Given the description of an element on the screen output the (x, y) to click on. 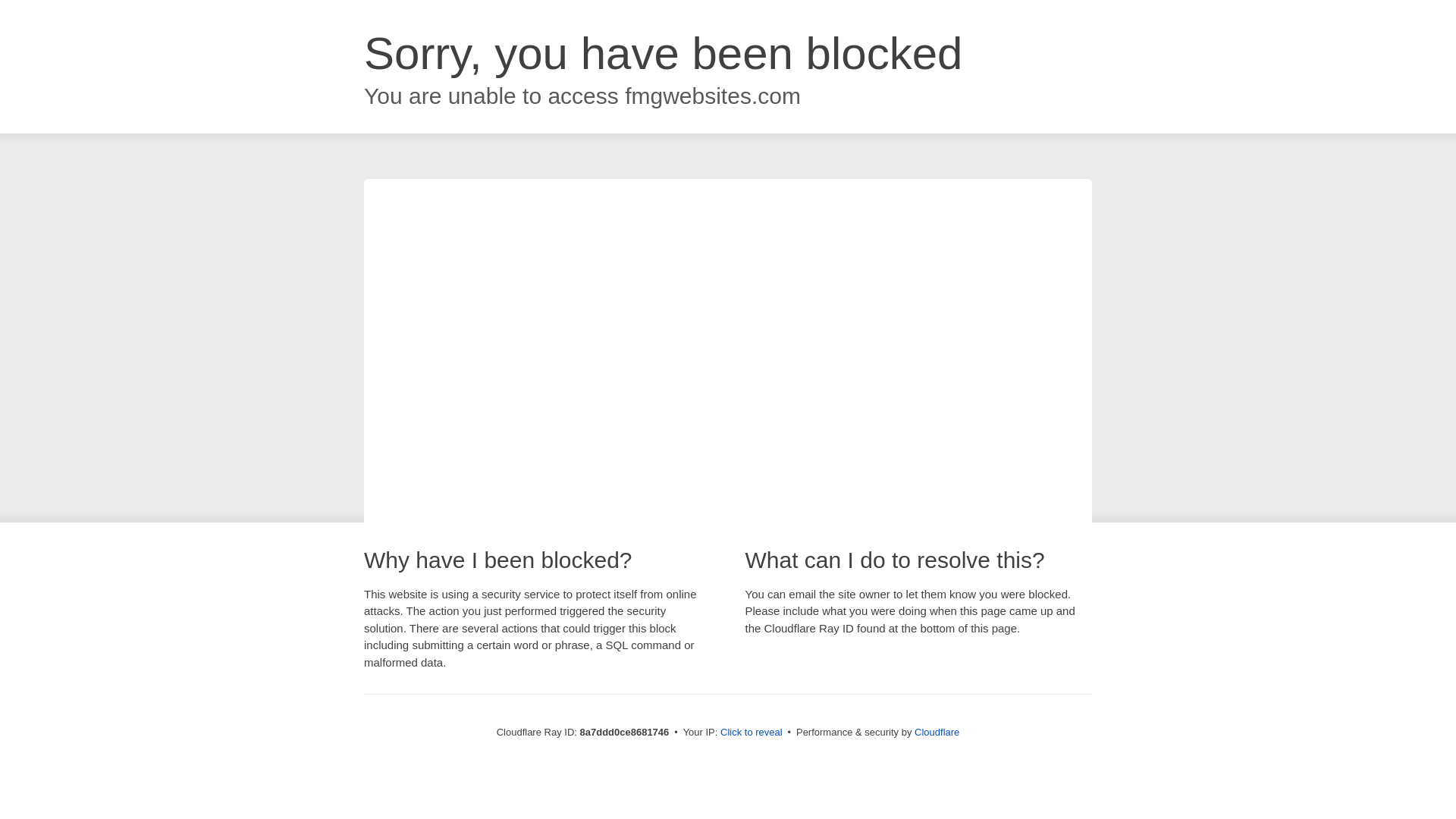
Cloudflare (936, 731)
Click to reveal (751, 732)
